Given the description of an element on the screen output the (x, y) to click on. 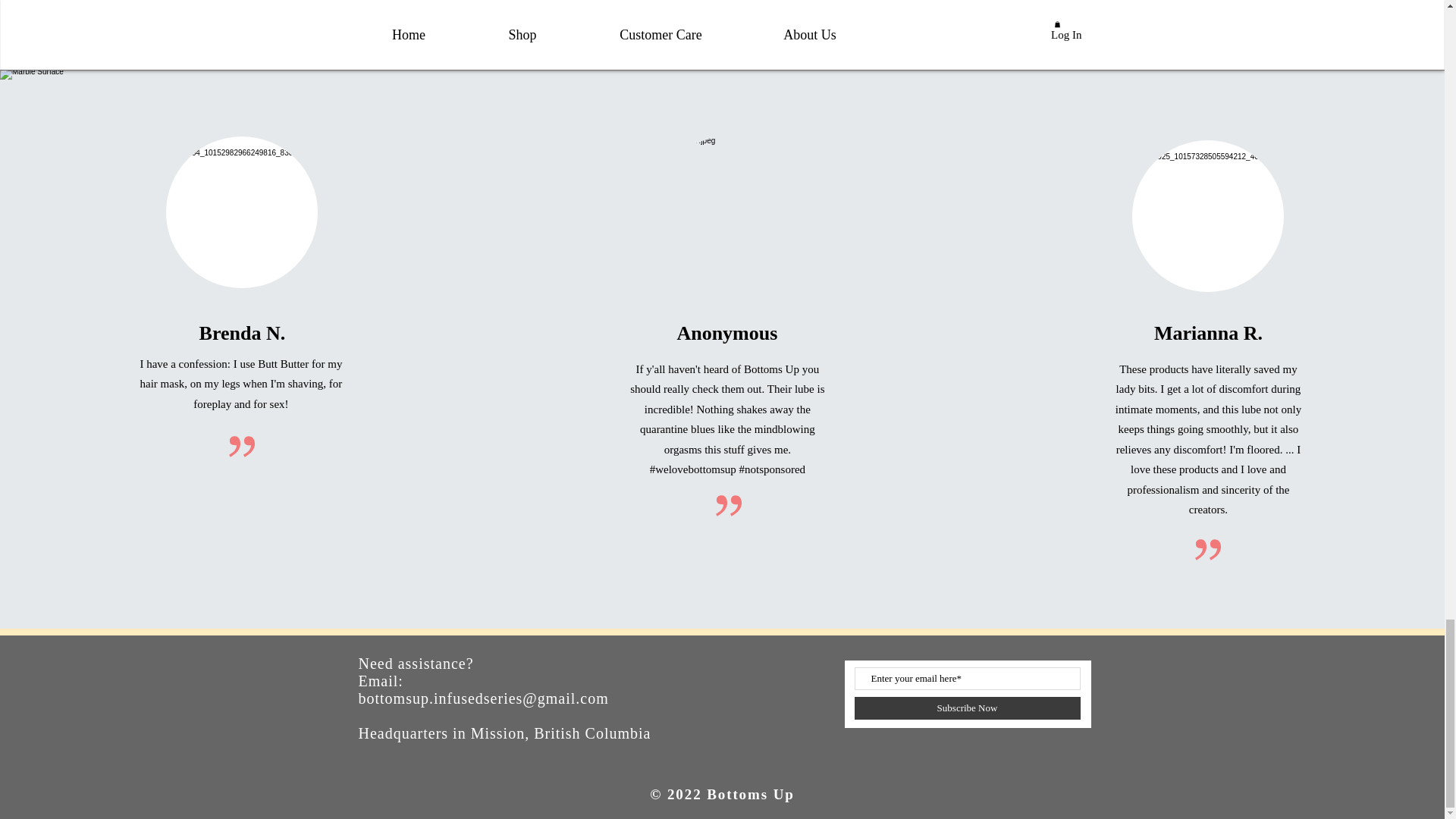
GettyImages-145680711.jpg (1208, 215)
GettyImages-124893619.jpg (726, 212)
GettyImages-535587703.jpg (241, 212)
